Given the description of an element on the screen output the (x, y) to click on. 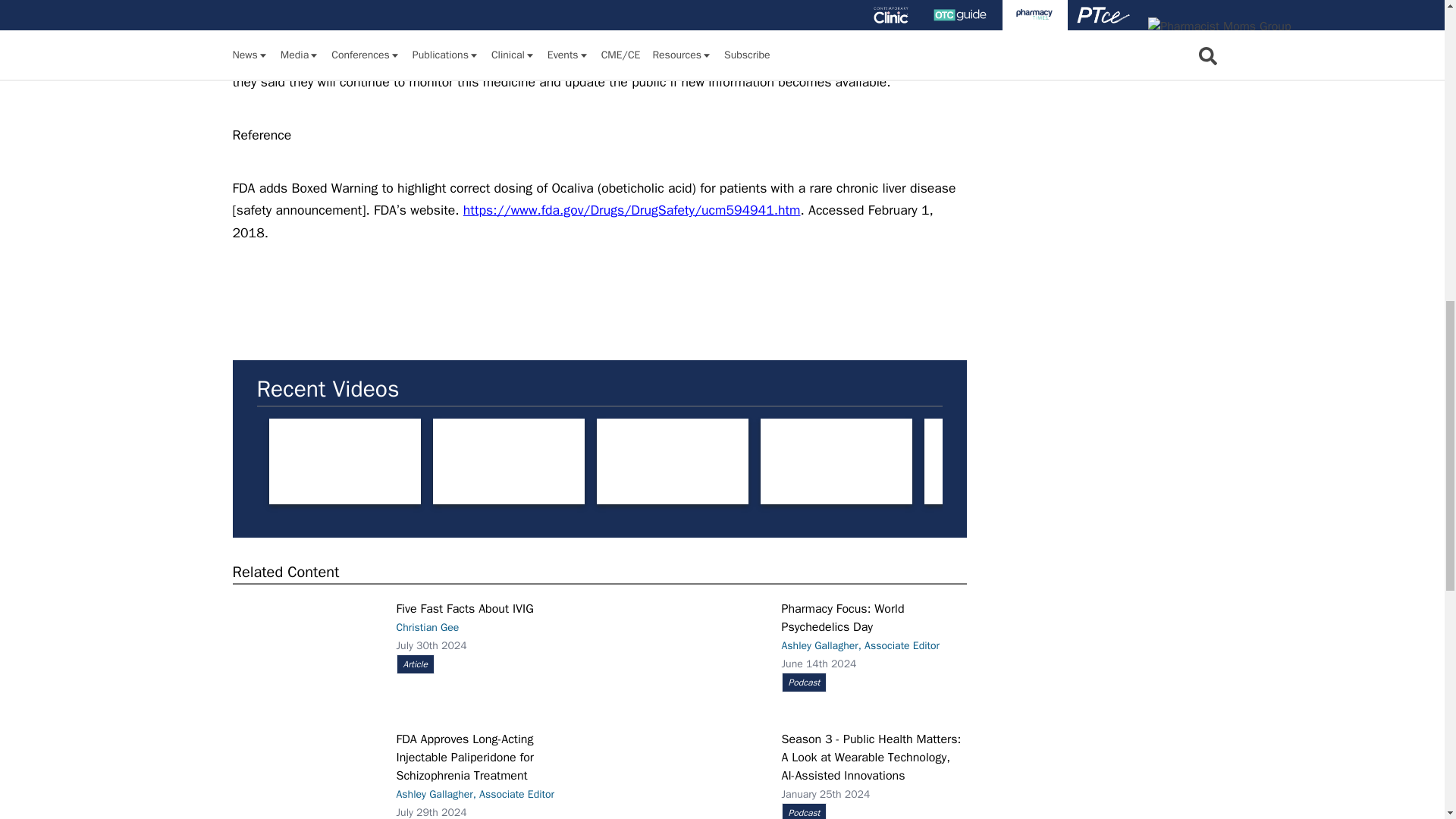
Pharmacy Focus: World Psychedelics Day (689, 650)
Five Fast Facts About IVIG  (304, 654)
Naloxone concept represented by wooden letter tiles. (343, 461)
